Given the description of an element on the screen output the (x, y) to click on. 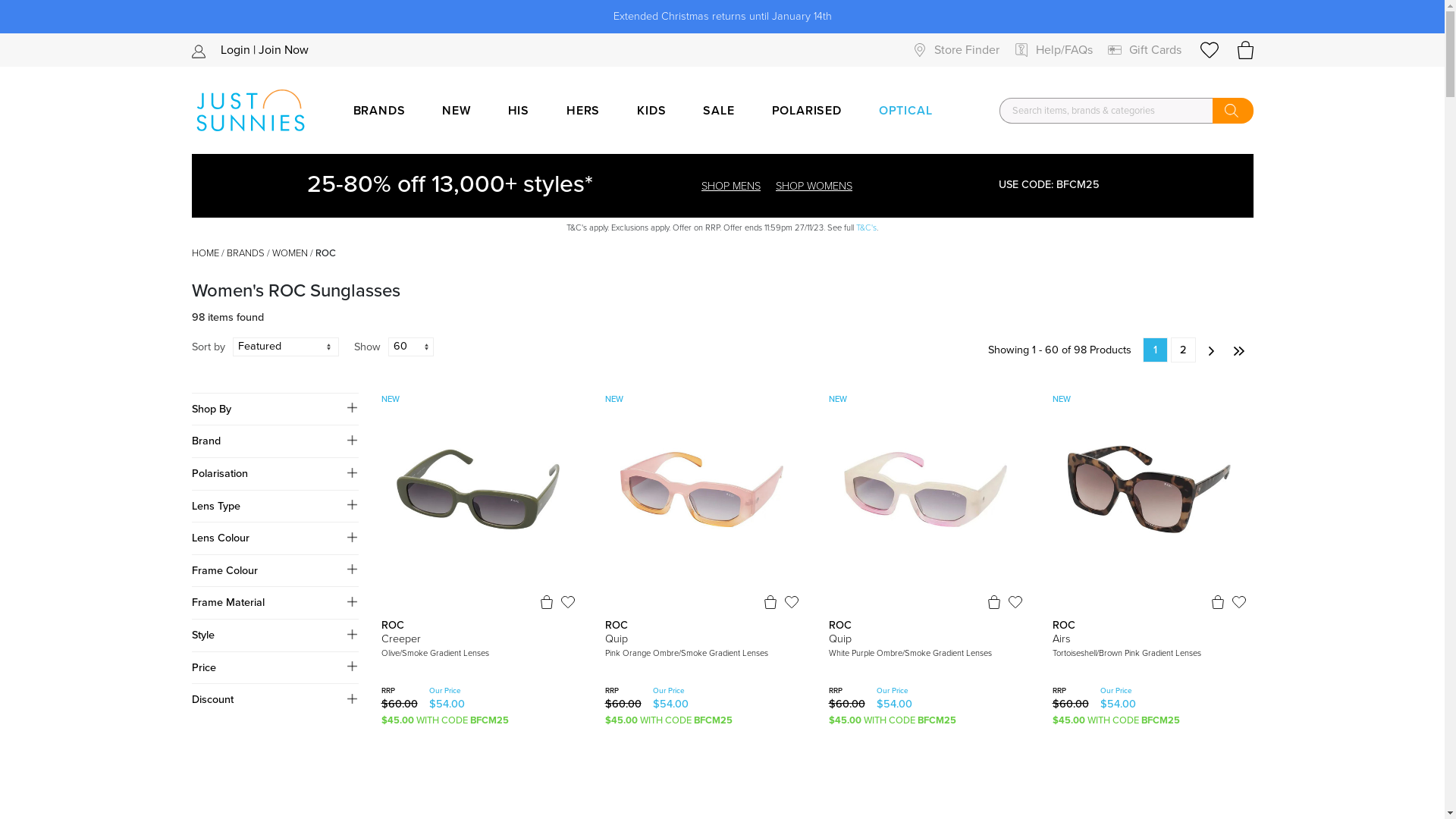
SHOP MENS Element type: text (730, 185)
KIDS Element type: text (651, 110)
BRANDS Element type: text (244, 252)
WOMEN Element type: text (289, 252)
HIS Element type: text (518, 110)
BRANDS Element type: text (379, 110)
1 Element type: text (1154, 349)
NEW Element type: text (455, 110)
HERS Element type: text (582, 110)
Join Now Element type: text (282, 49)
USE CODE: BFCM25 Element type: text (1048, 184)
POLARISED Element type: text (806, 110)
T&C's Element type: text (866, 227)
SHOP WOMENS Element type: text (813, 185)
HOME Element type: text (204, 252)
2 Element type: text (1182, 349)
SALE Element type: text (718, 110)
Extended Christmas returns until January 14th Element type: text (721, 16)
OPTICAL Element type: text (905, 110)
